Given the description of an element on the screen output the (x, y) to click on. 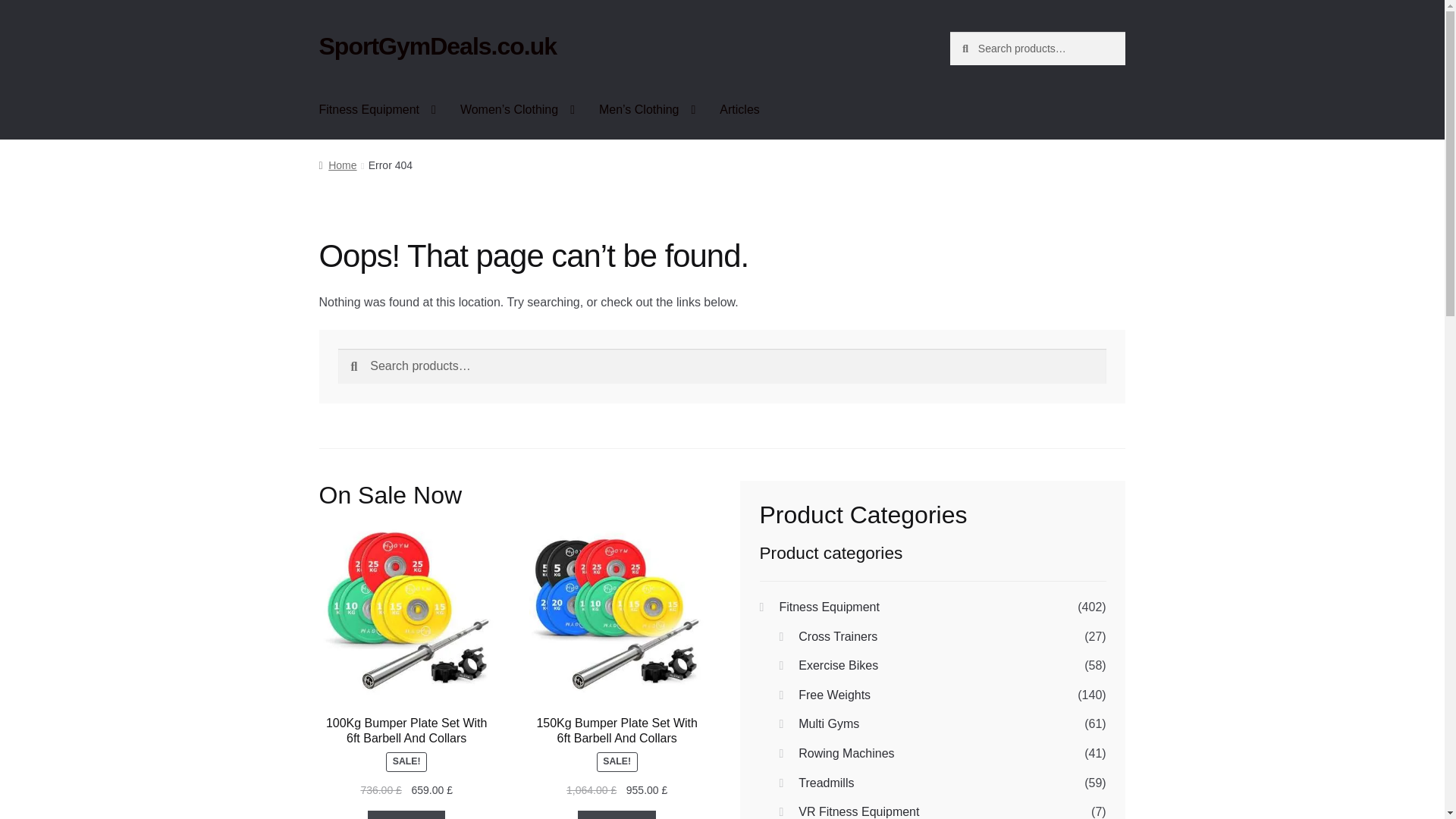
SportGymDeals.co.uk (437, 45)
Articles (739, 109)
Fitness Equipment (377, 109)
